Given the description of an element on the screen output the (x, y) to click on. 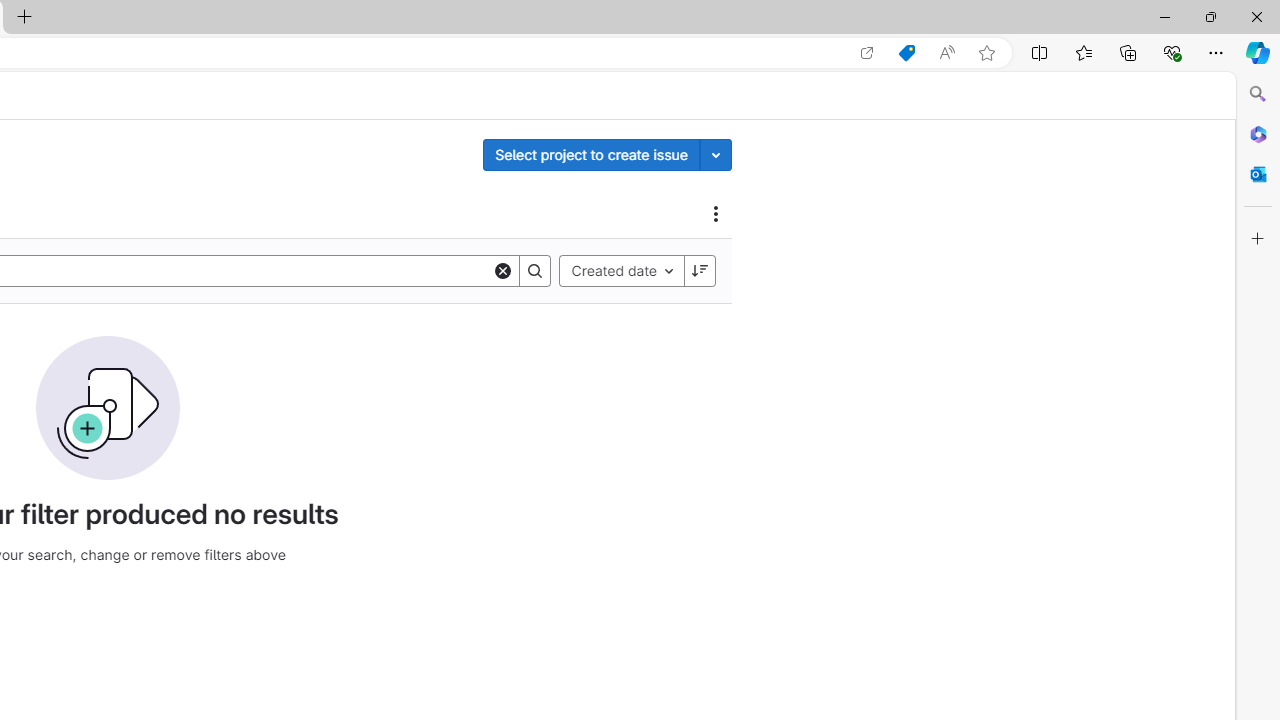
Open in app (867, 53)
Customize (1258, 239)
Select project to create issue (591, 154)
